Given the description of an element on the screen output the (x, y) to click on. 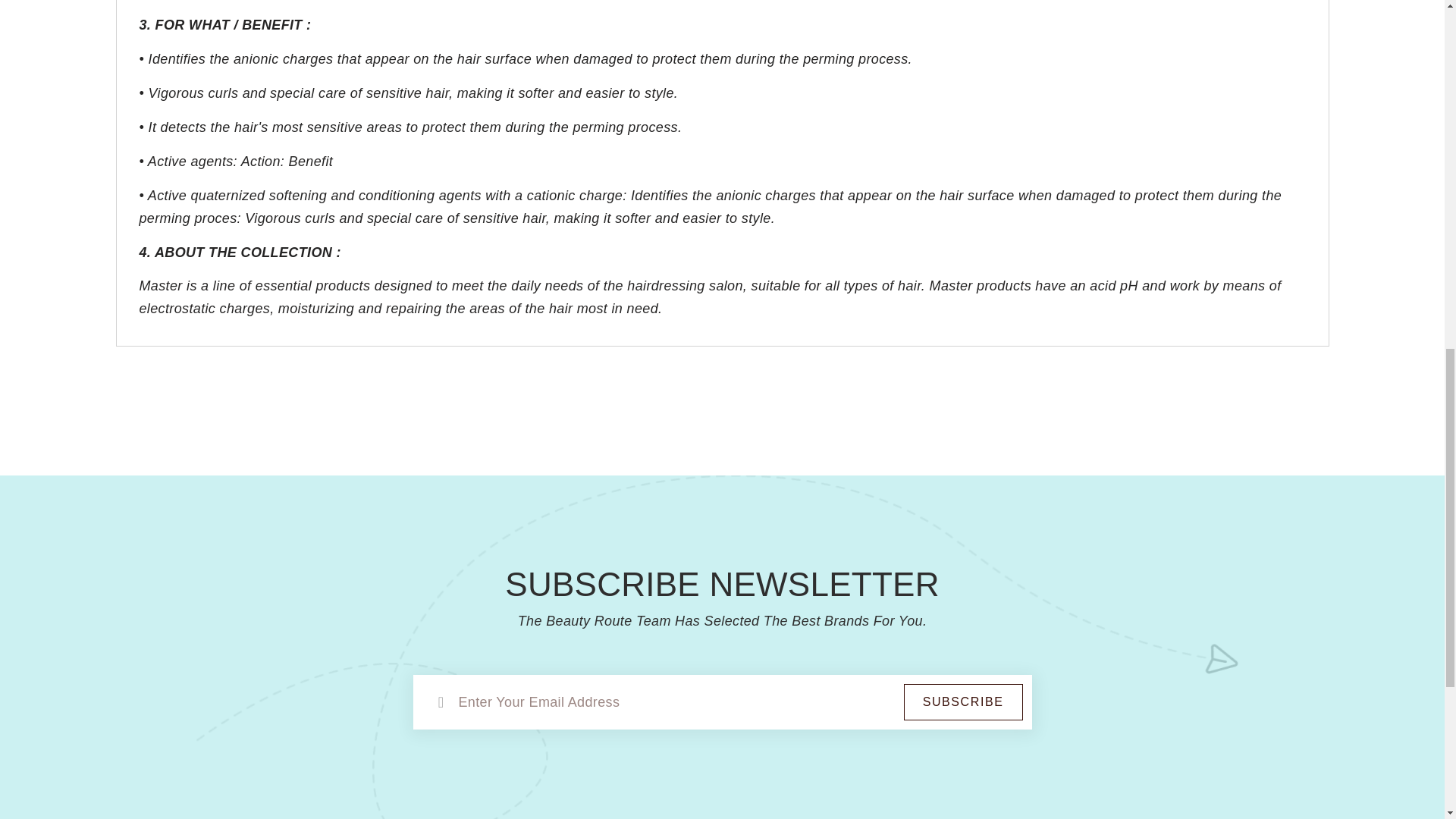
SUBSCRIBE (963, 701)
Subscribe Now (963, 701)
